Given the description of an element on the screen output the (x, y) to click on. 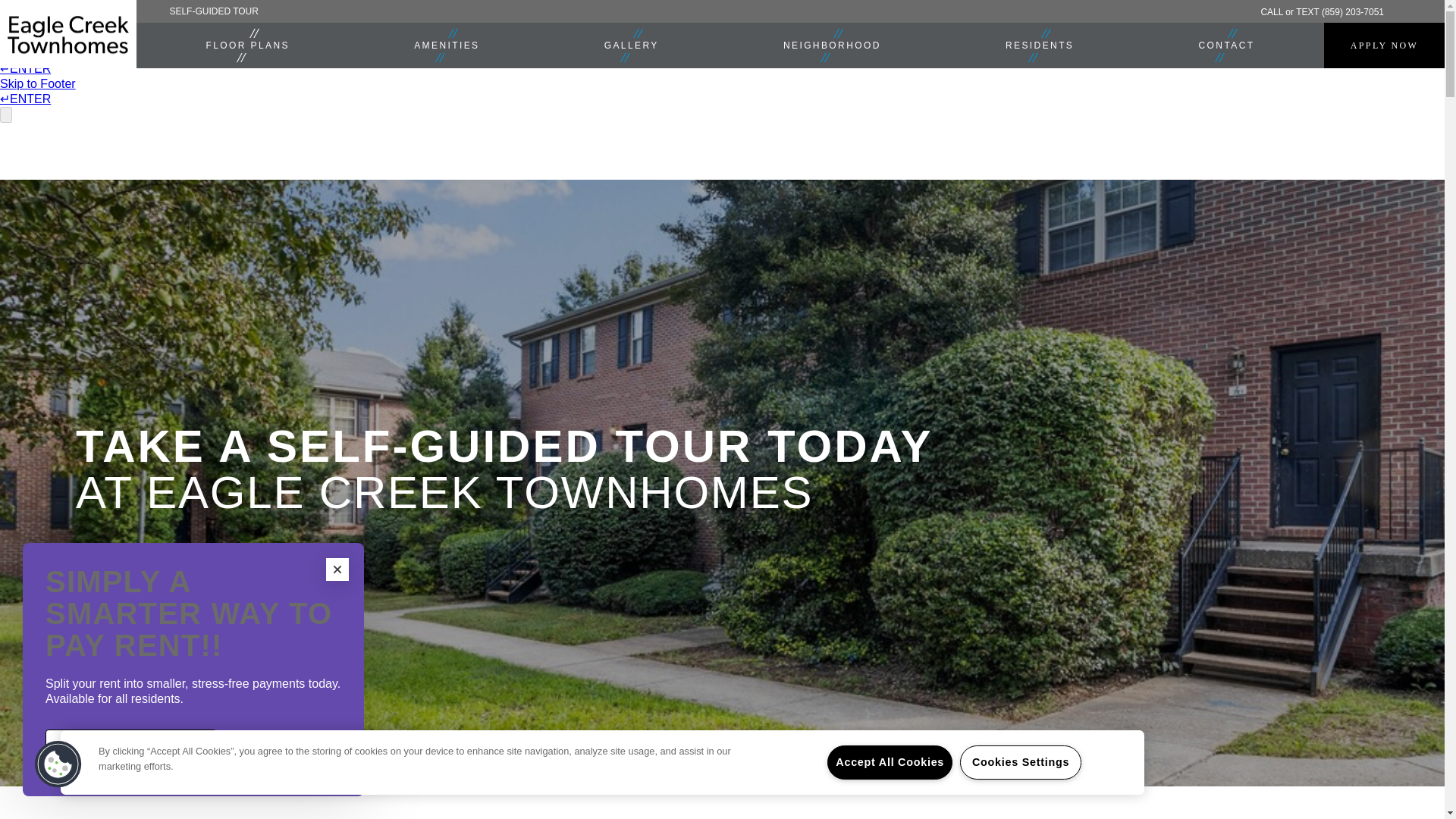
Gallery (631, 45)
Self-Guided Tour (212, 11)
GALLERY (631, 45)
NEIGHBORHOOD (832, 45)
Amenities (446, 45)
SELF-GUIDED TOUR (212, 11)
AMENITIES (446, 45)
RESIDENTS (1039, 45)
Floor Plans (247, 45)
FLOOR PLANS (247, 45)
Contact Number (1322, 11)
CONTACT (1226, 45)
Cookies Button (57, 764)
